Given the description of an element on the screen output the (x, y) to click on. 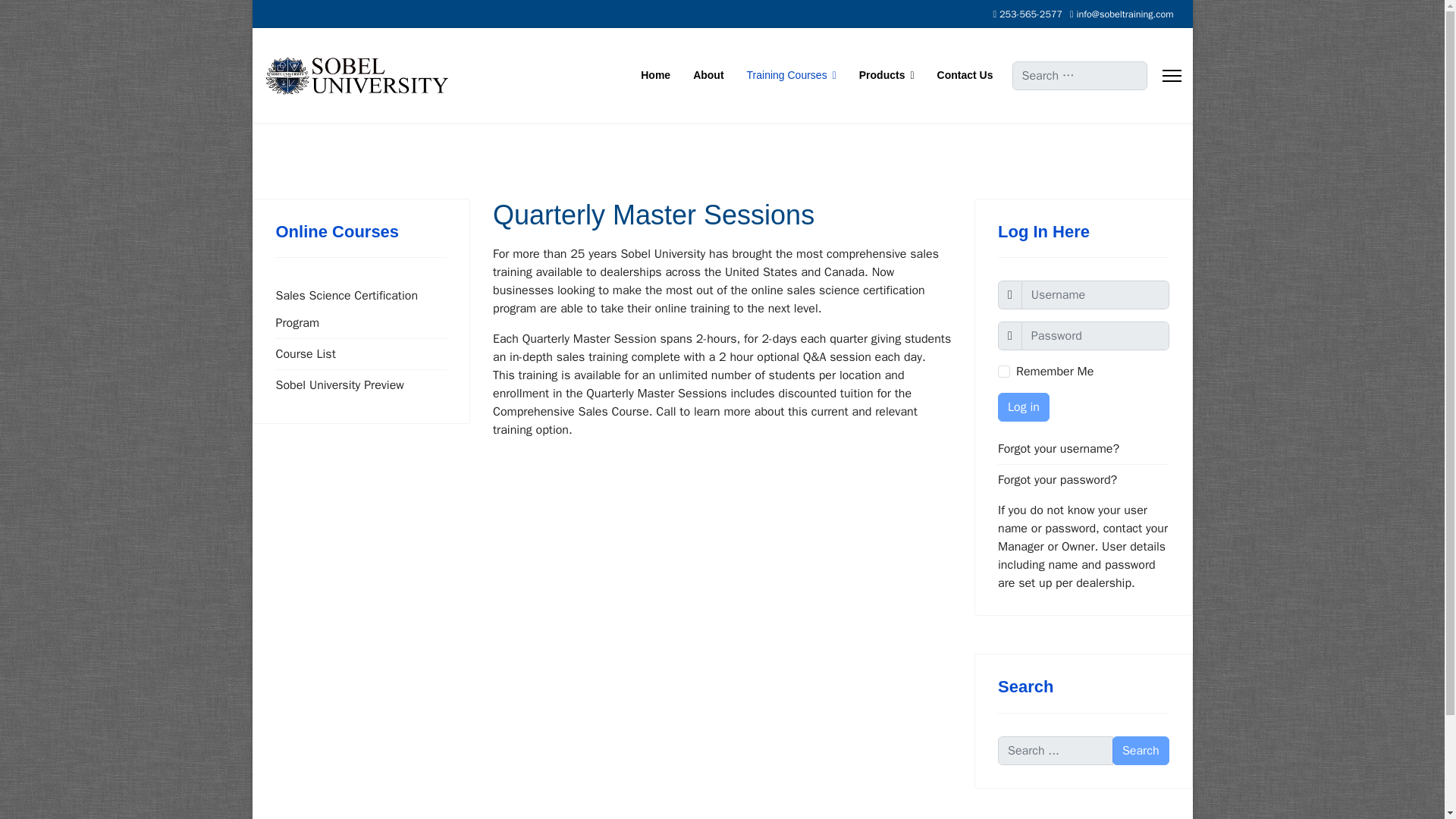
Log in (1023, 407)
253-565-2577 (1030, 14)
yes (1003, 371)
Forgot your username? (1083, 449)
Course List (361, 354)
Training Courses (791, 74)
Search (1140, 750)
Sobel University Preview (361, 385)
Sales Science Certification Program (361, 309)
Forgot your password? (1083, 480)
